Given the description of an element on the screen output the (x, y) to click on. 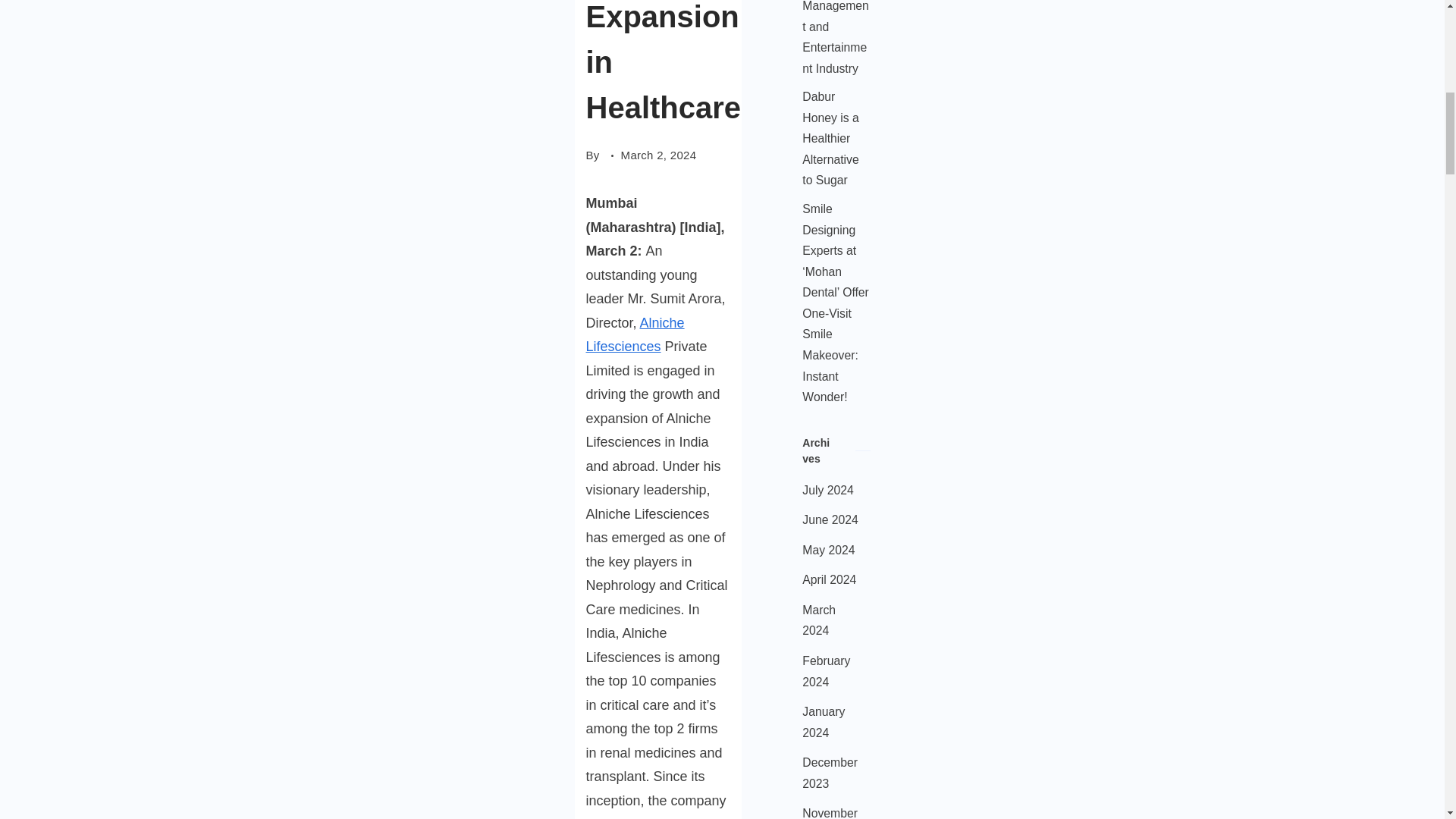
Alniche Lifesciences (634, 334)
